Given the description of an element on the screen output the (x, y) to click on. 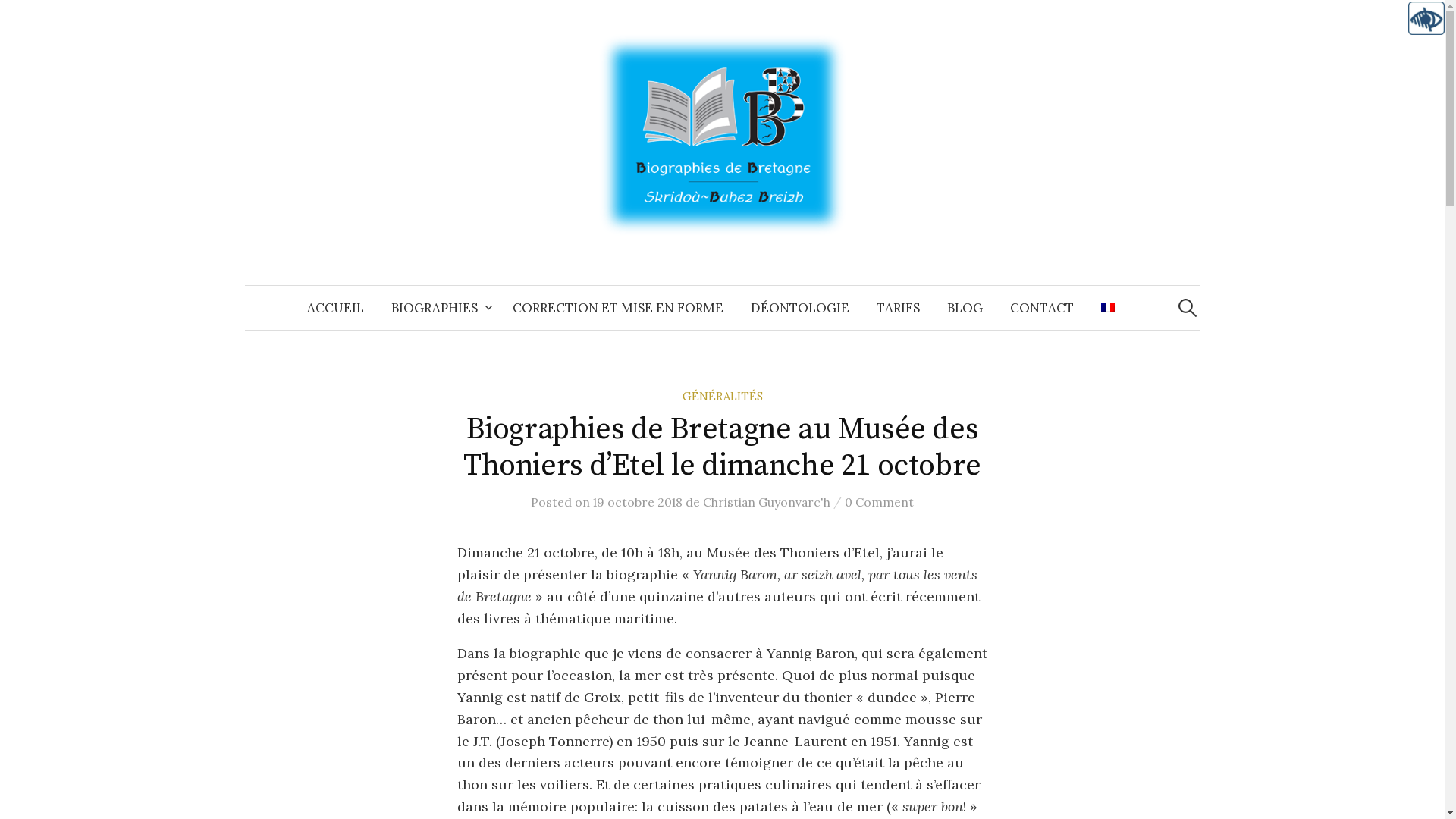
Rechercher Element type: text (18, 18)
ACCUEIL Element type: text (335, 307)
TARIFS Element type: text (897, 307)
0 Comment Element type: text (878, 502)
CORRECTION ET MISE EN FORME Element type: text (617, 307)
Accessibility Helper sidebar Element type: hover (1426, 18)
BIOGRAPHIES Element type: text (437, 307)
19 octobre 2018 Element type: text (637, 502)
BLOG Element type: text (964, 307)
Christian Guyonvarc'h Element type: text (766, 502)
CONTACT Element type: text (1041, 307)
